Given the description of an element on the screen output the (x, y) to click on. 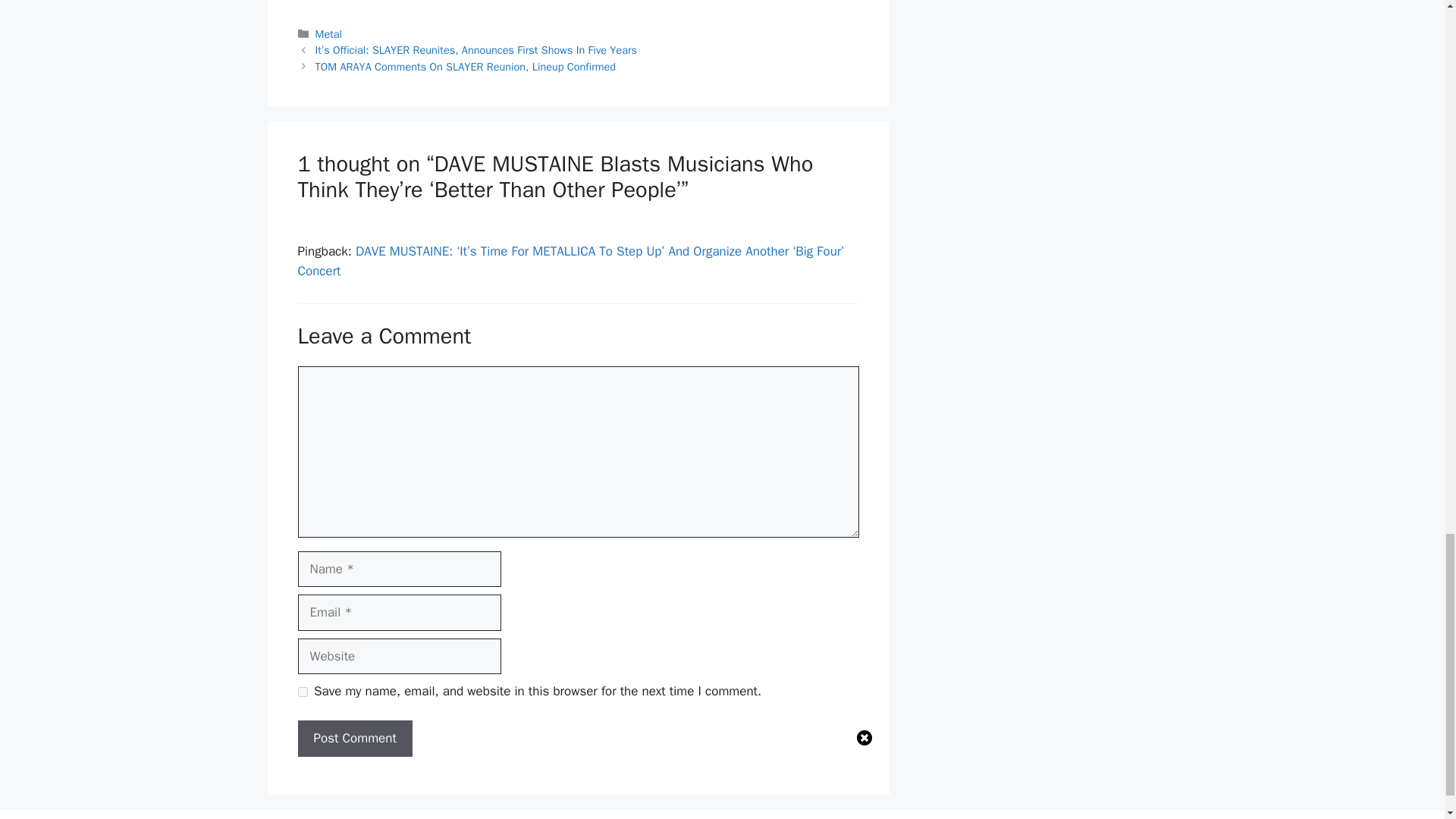
Post Comment (354, 738)
Post Comment (354, 738)
Metal (328, 33)
yes (302, 691)
TOM ARAYA Comments On SLAYER Reunion, Lineup Confirmed (465, 66)
